Given the description of an element on the screen output the (x, y) to click on. 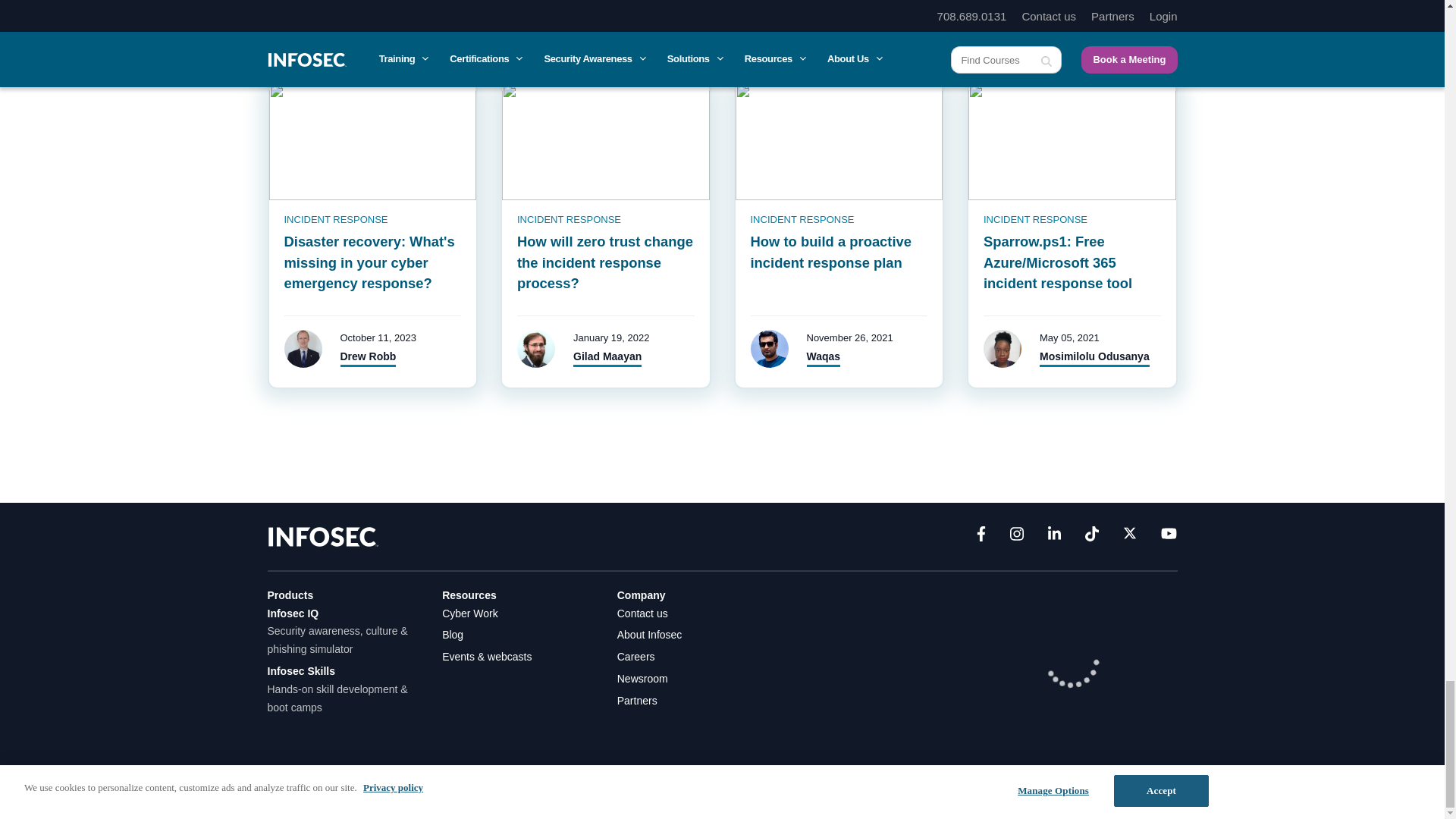
LinkedIn (1054, 536)
Infosec (322, 535)
Instagram (1016, 536)
